Given the description of an element on the screen output the (x, y) to click on. 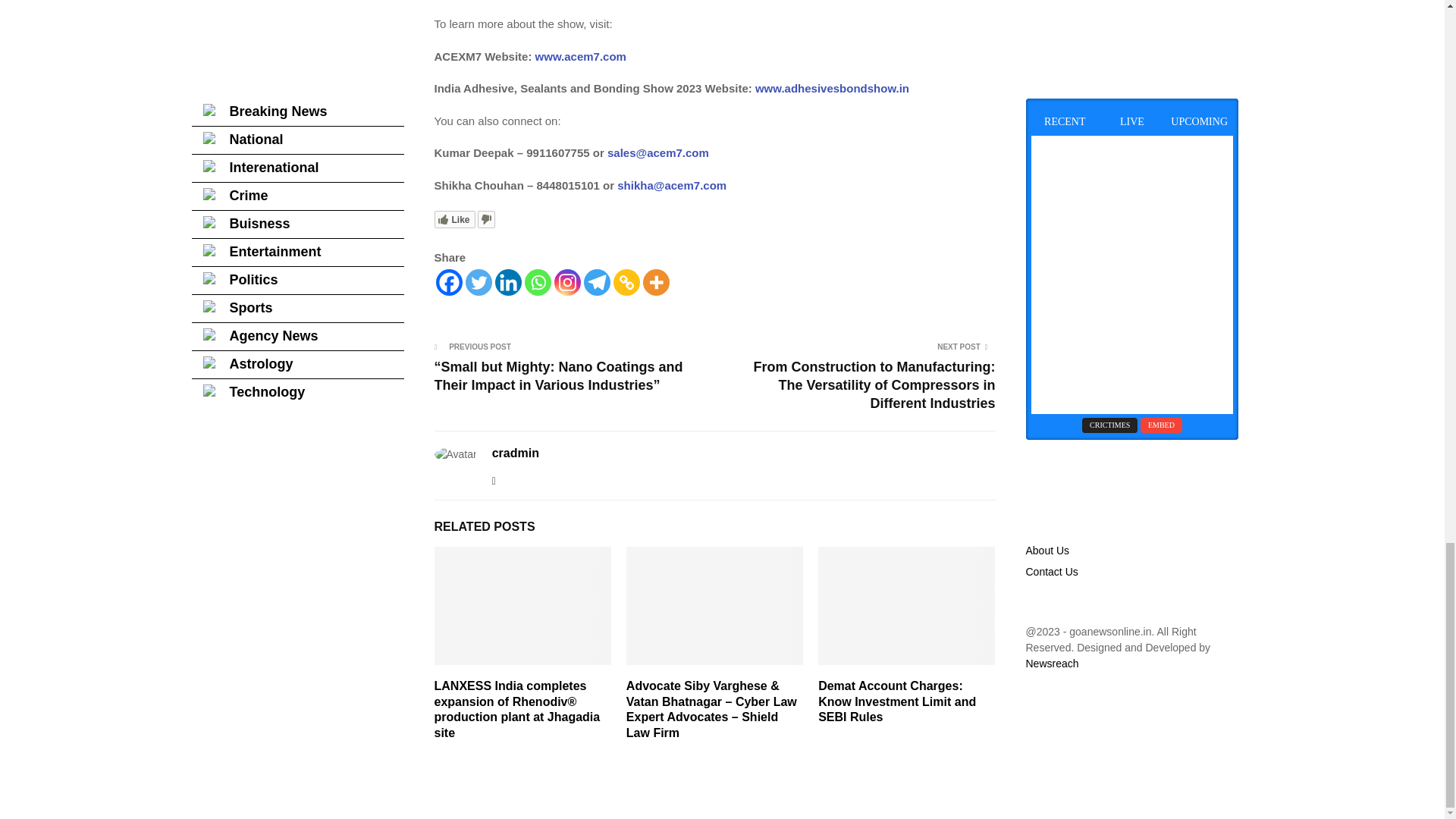
www.adhesivesbondshow.in (830, 88)
www.acem7.com (578, 56)
